Given the description of an element on the screen output the (x, y) to click on. 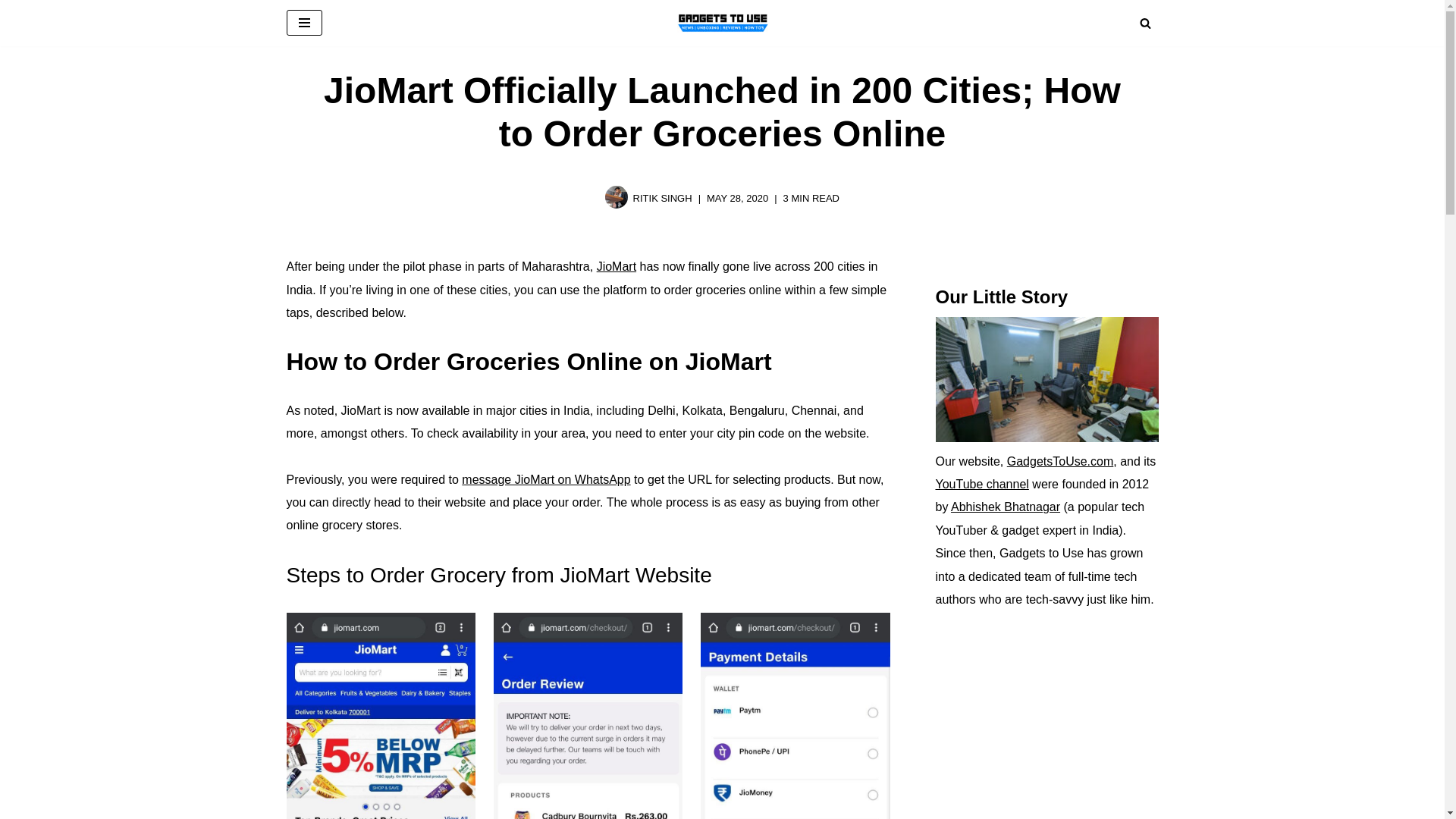
Posts by Ritik Singh (663, 197)
Navigation Menu (303, 22)
JioMart (616, 266)
RITIK SINGH (663, 197)
Skip to content (11, 31)
message JioMart on WhatsApp (545, 479)
